Given the description of an element on the screen output the (x, y) to click on. 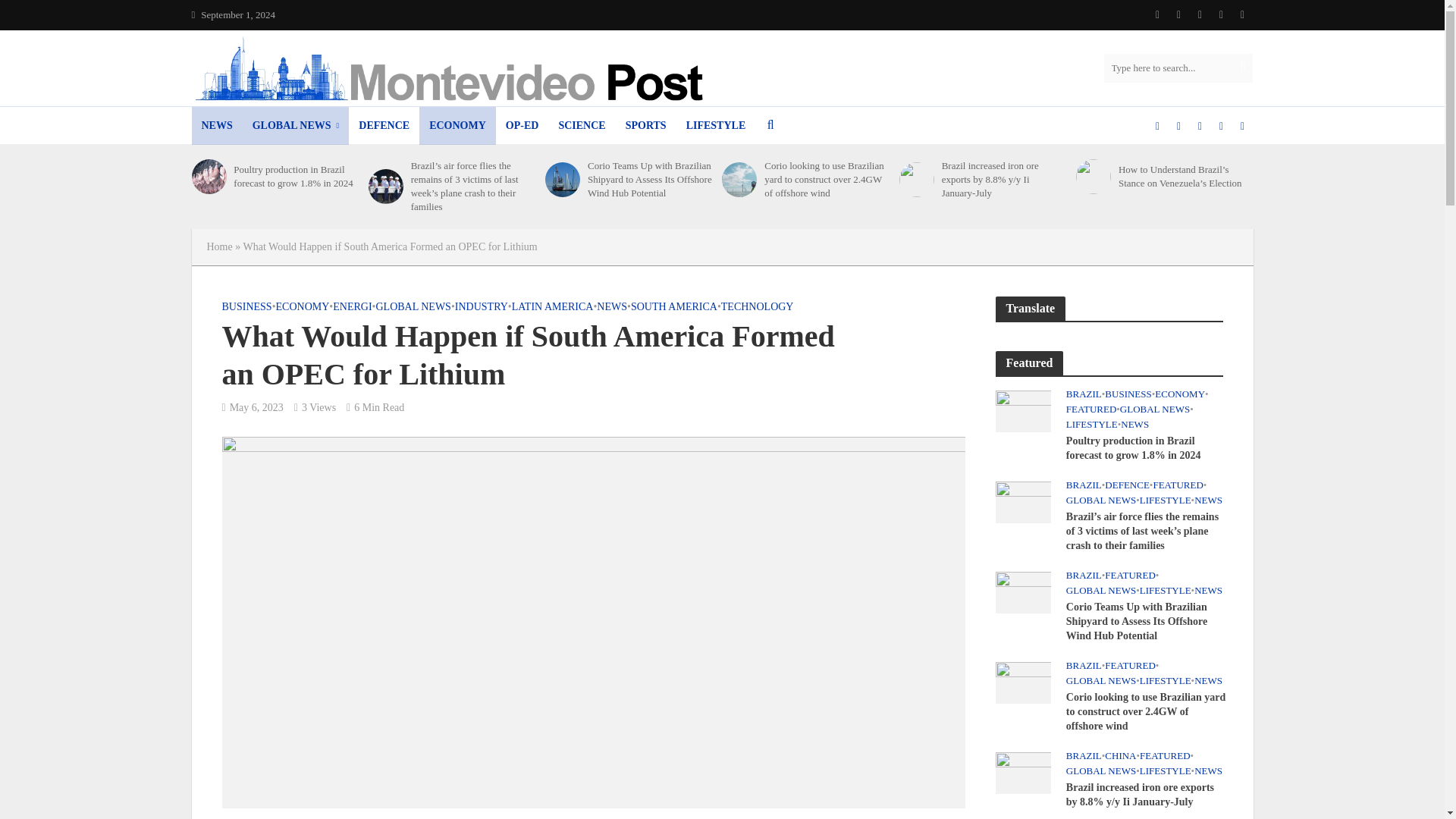
NEWS (215, 125)
GLOBAL NEWS (296, 125)
